Given the description of an element on the screen output the (x, y) to click on. 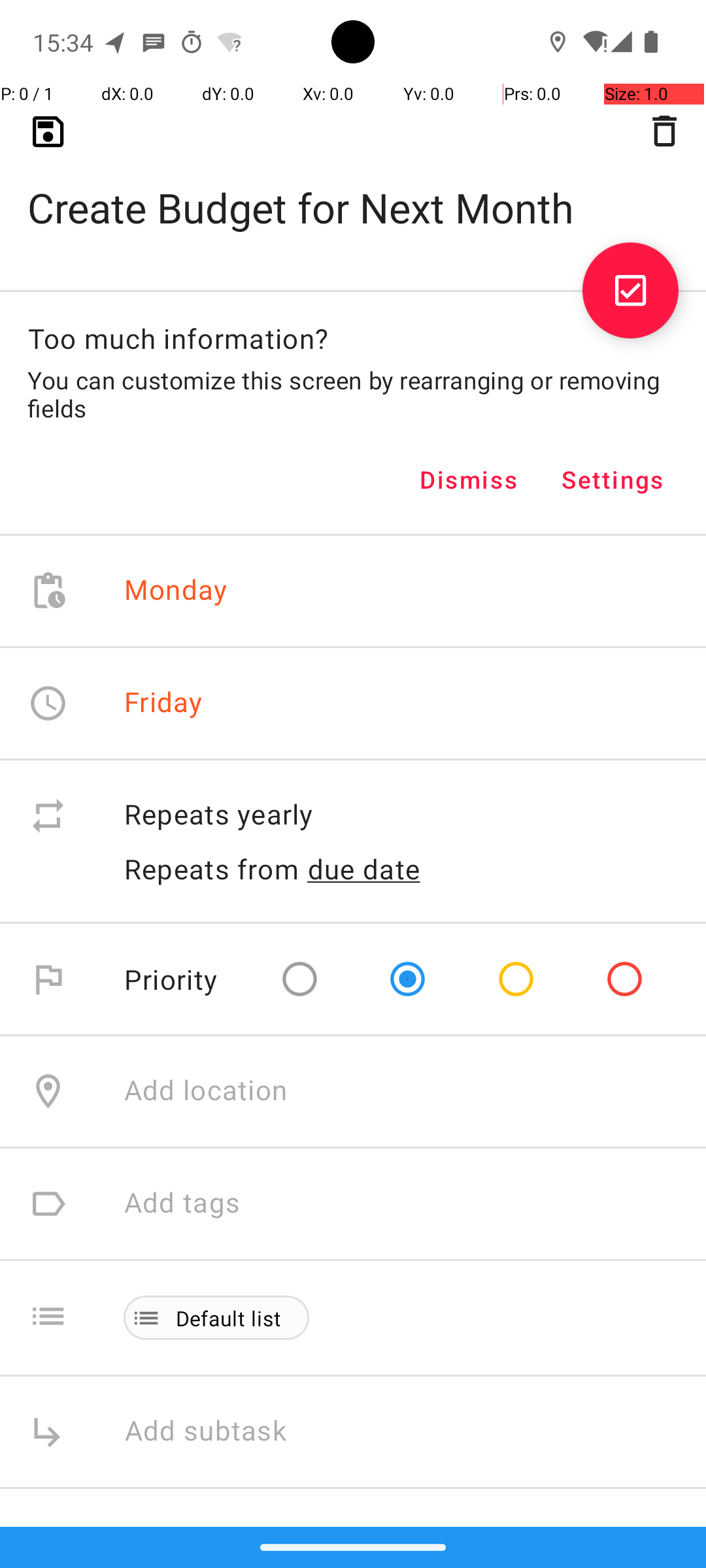
Repeats yearly Element type: android.widget.TextView (400, 815)
Repeats from Element type: android.widget.TextView (211, 868)
due date Element type: android.widget.TextView (363, 868)
